Given the description of an element on the screen output the (x, y) to click on. 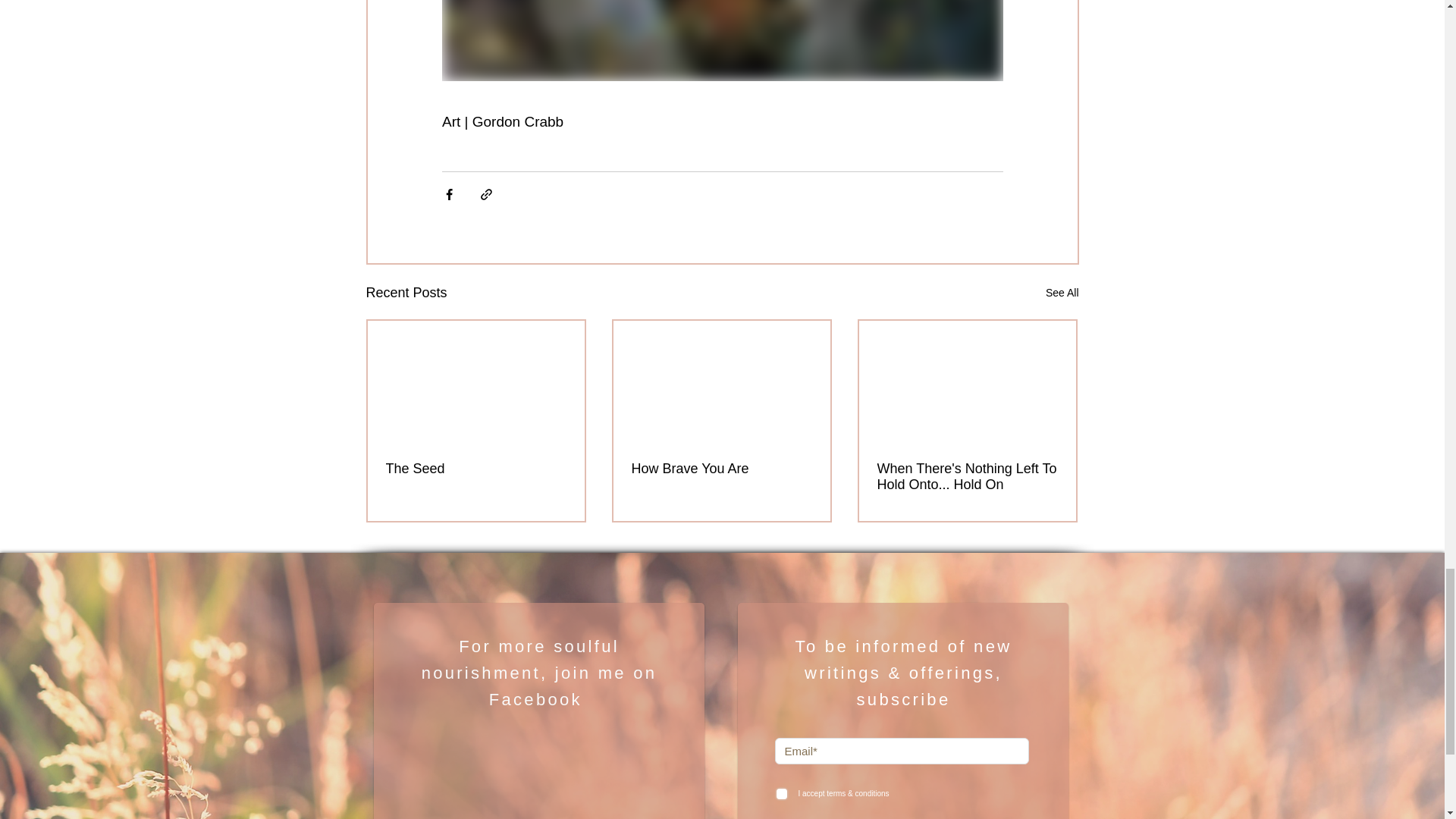
The Seed (475, 468)
How Brave You Are (720, 468)
See All (1061, 292)
When There's Nothing Left To Hold Onto... Hold On (966, 477)
